Given the description of an element on the screen output the (x, y) to click on. 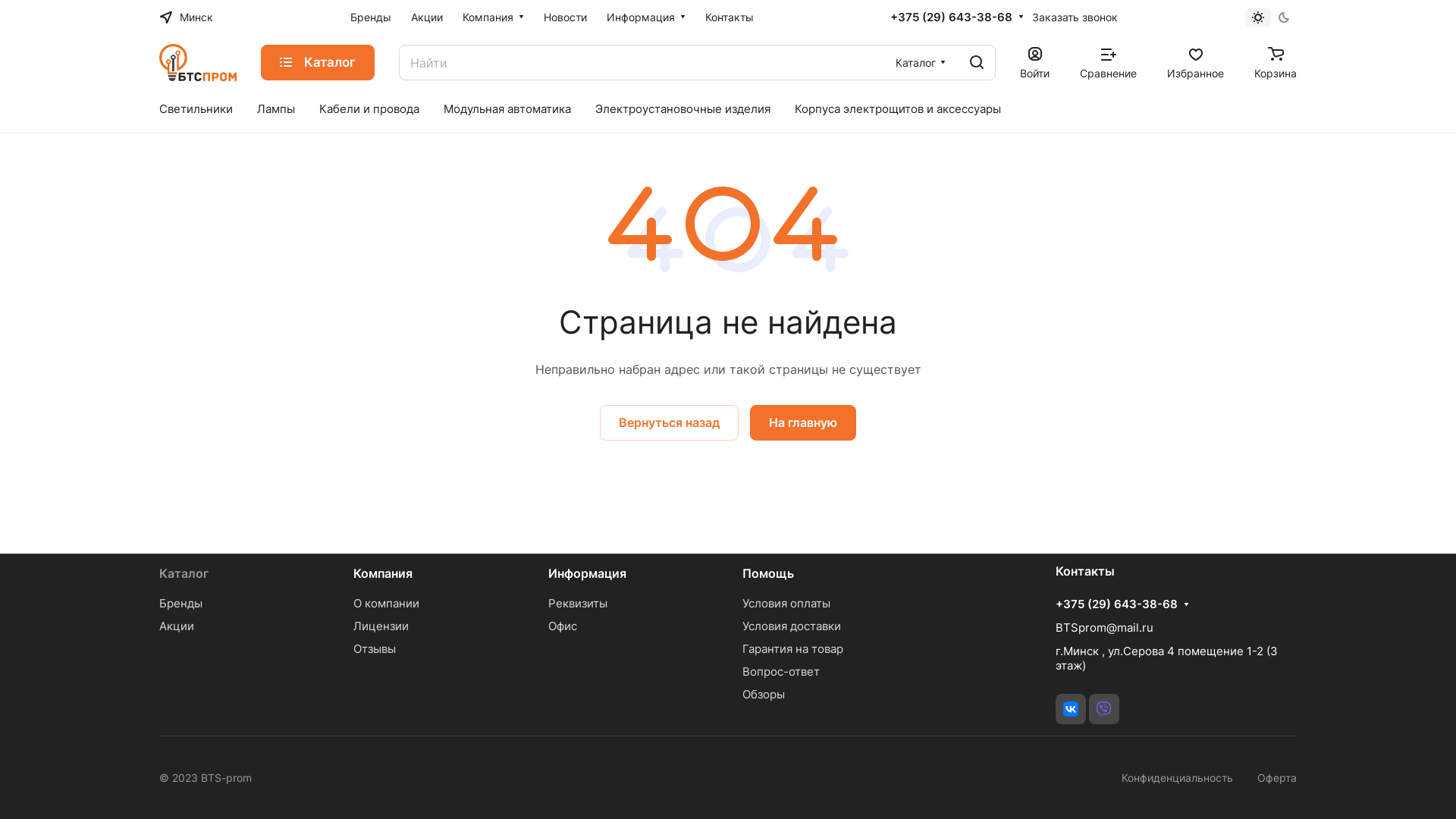
BTSprom@mail.ru Element type: text (1104, 627)
+375 (29) 643-38-68 Element type: text (951, 17)
Viber Element type: hover (1103, 708)
+375 (29) 643-38-68 Element type: text (1116, 604)
